Given the description of an element on the screen output the (x, y) to click on. 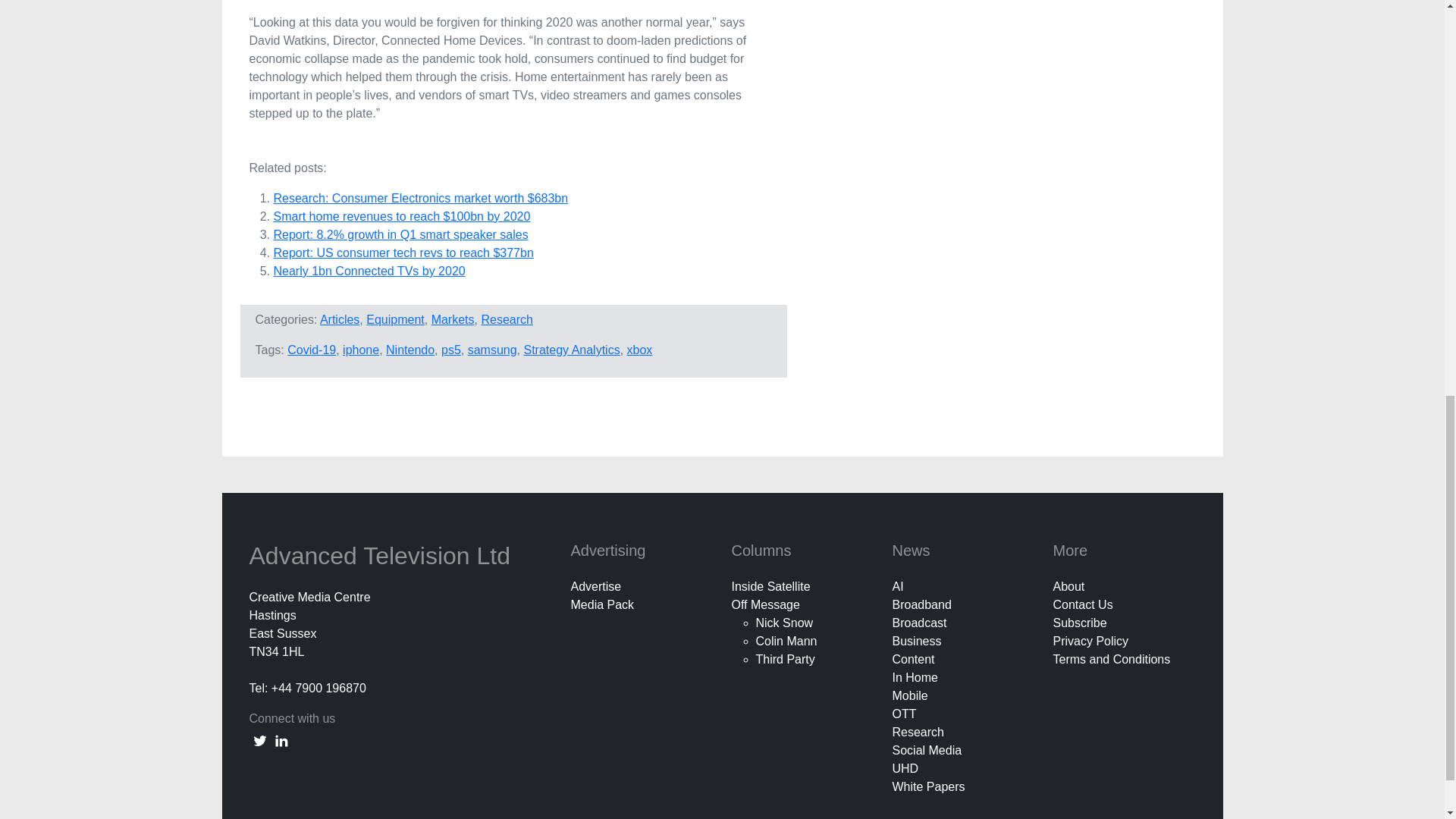
xbox (639, 349)
iphone (360, 349)
samsung (491, 349)
Markets (452, 318)
Equipment (395, 318)
Covid-19 (311, 349)
Articles (339, 318)
ps5 (451, 349)
Nintendo (409, 349)
Nearly 1bn Connected TVs by 2020 (368, 270)
